Given the description of an element on the screen output the (x, y) to click on. 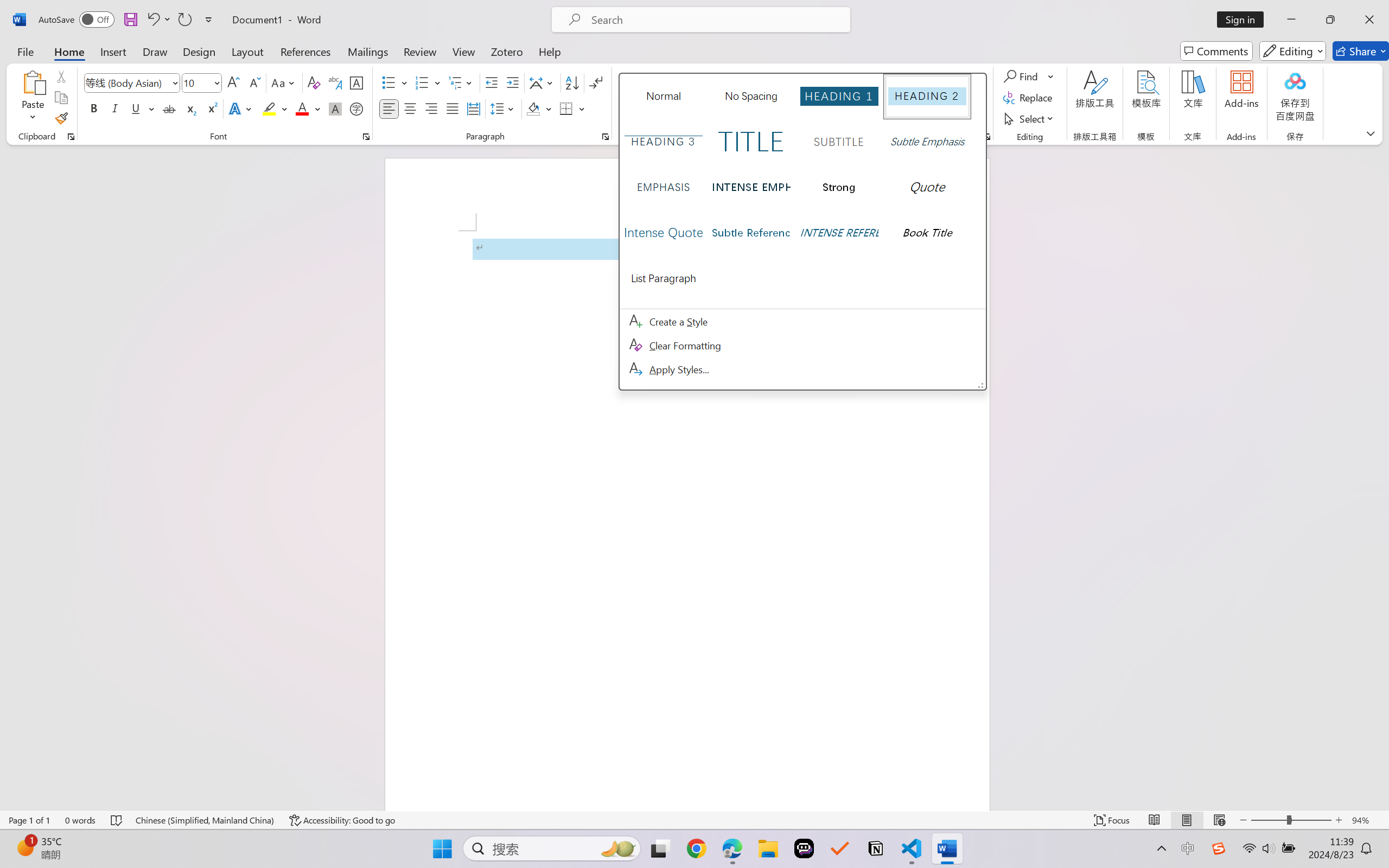
Google Chrome (696, 848)
Undo Apply Quick Style (152, 19)
